Given the description of an element on the screen output the (x, y) to click on. 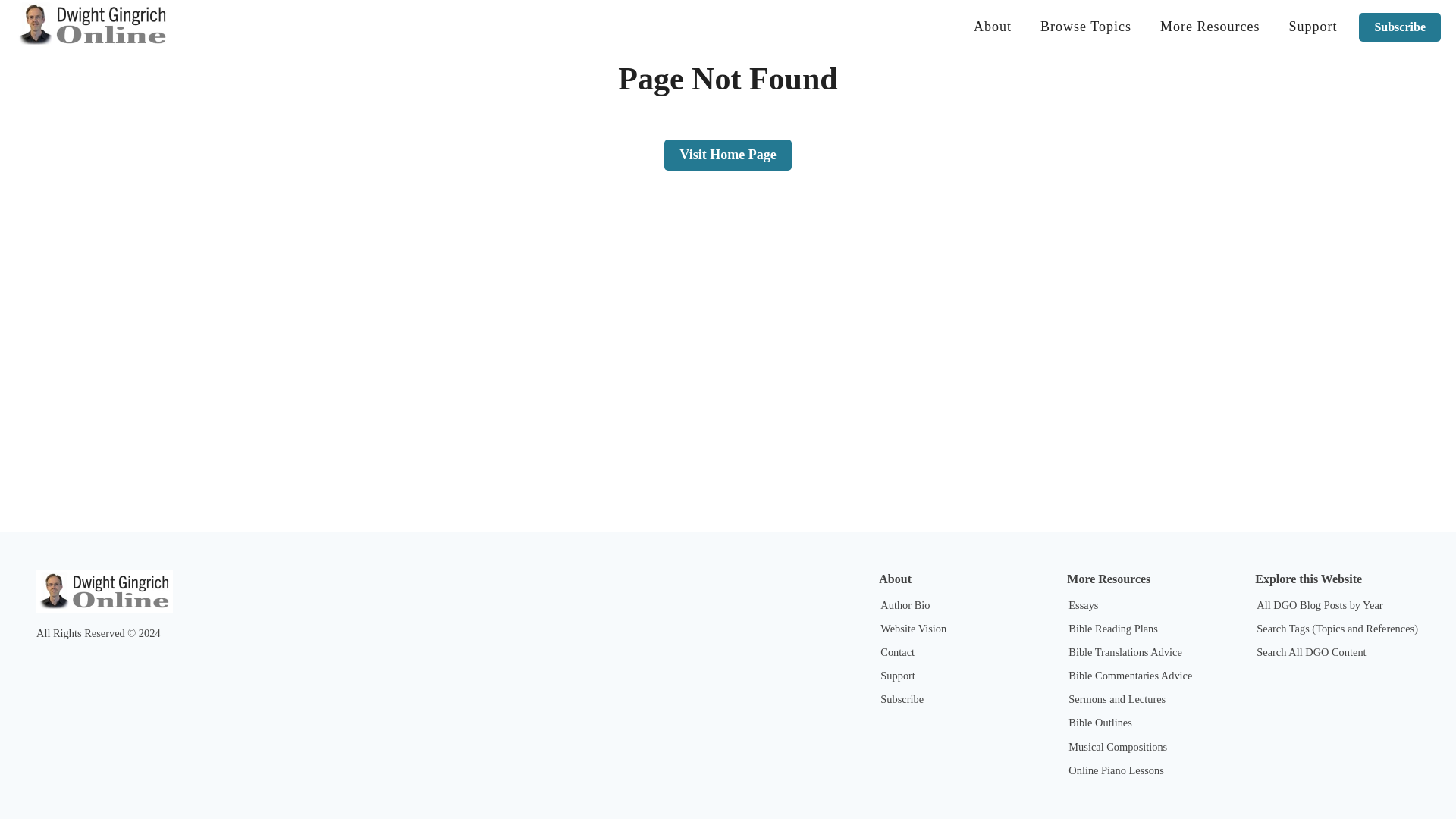
About (992, 26)
Visit Home Page (726, 135)
Sermons and Lectures (1117, 698)
Online Piano Lessons (1115, 770)
Essays (1082, 604)
All DGO Blog Posts by Year (1318, 604)
More Resources (1209, 26)
Bible Translations Advice (1125, 652)
Bible Outlines (1100, 722)
Support (1312, 26)
